Given the description of an element on the screen output the (x, y) to click on. 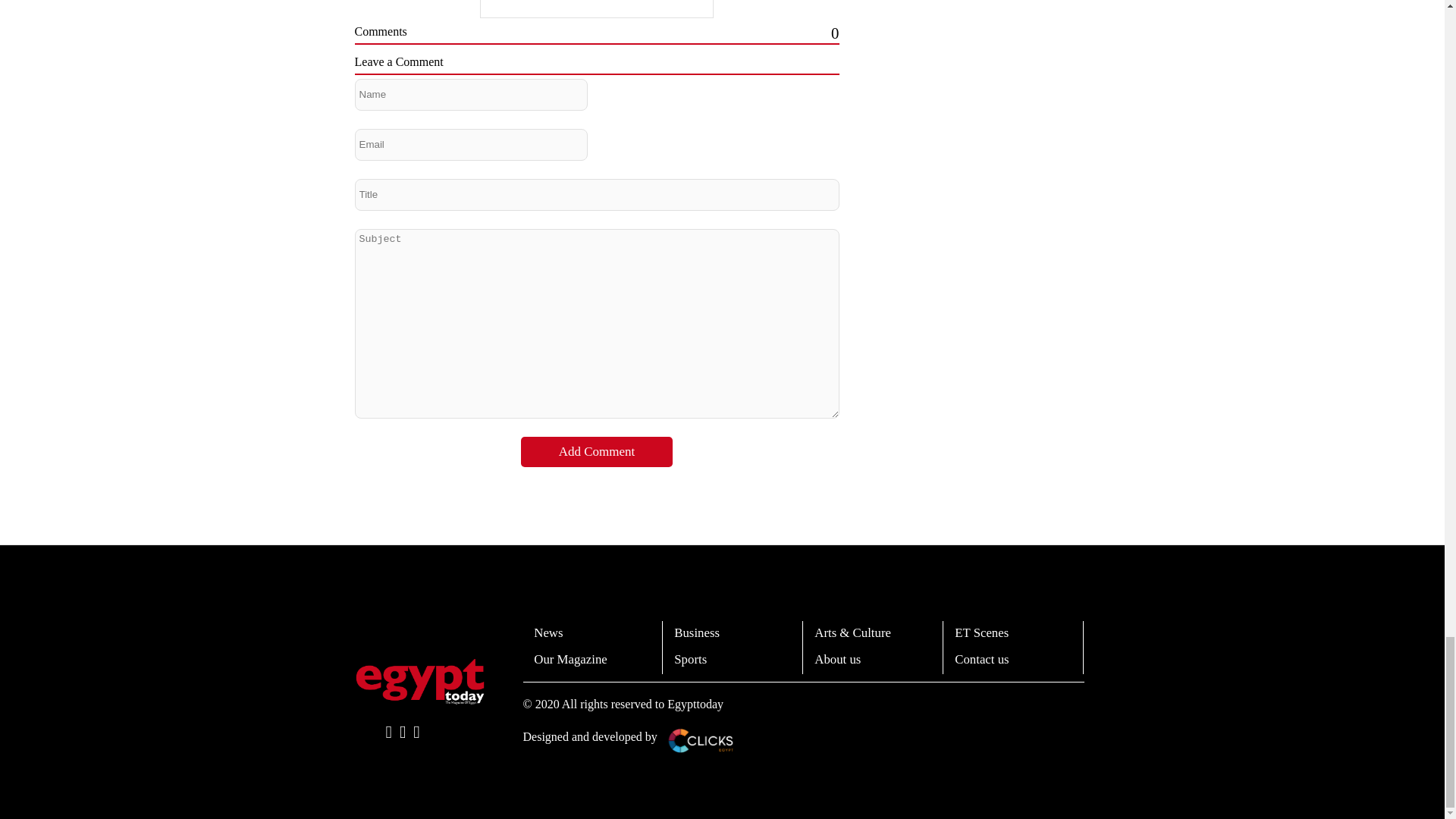
Add Comment (596, 451)
